Given the description of an element on the screen output the (x, y) to click on. 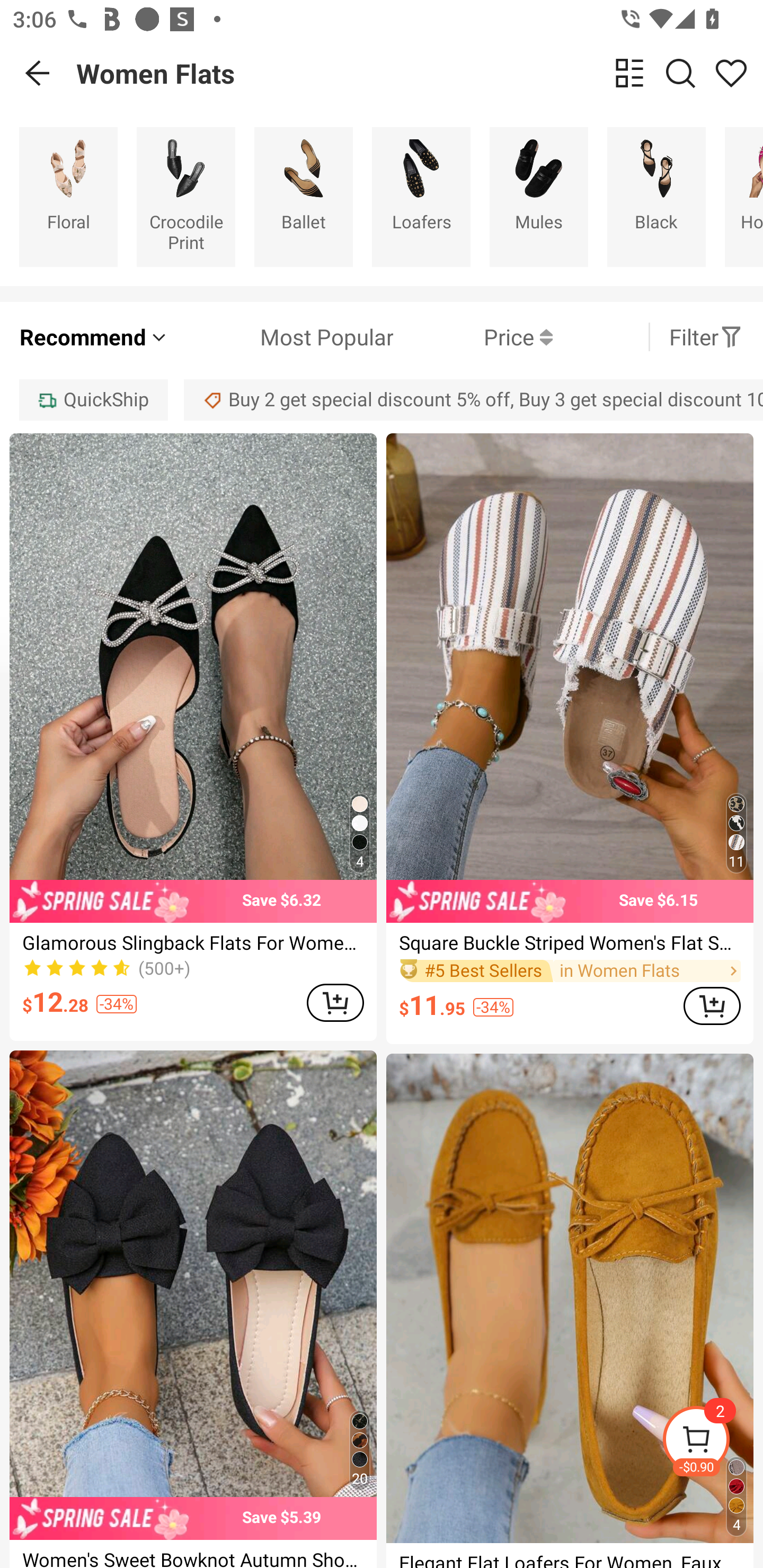
Women Flats change view Search Share (419, 72)
change view (629, 72)
Search (679, 72)
Share (730, 72)
Floral (68, 196)
Crocodile Print (185, 196)
Ballet (303, 196)
Loafers (421, 196)
Mules (538, 196)
Black (656, 196)
Recommend (94, 336)
Most Popular (280, 336)
Price (472, 336)
Filter (705, 336)
QuickShip (93, 399)
#5 Best Sellers in Women Flats (569, 970)
ADD TO CART (334, 1002)
ADD TO CART (711, 1005)
-$0.90 (712, 1441)
